Given the description of an element on the screen output the (x, y) to click on. 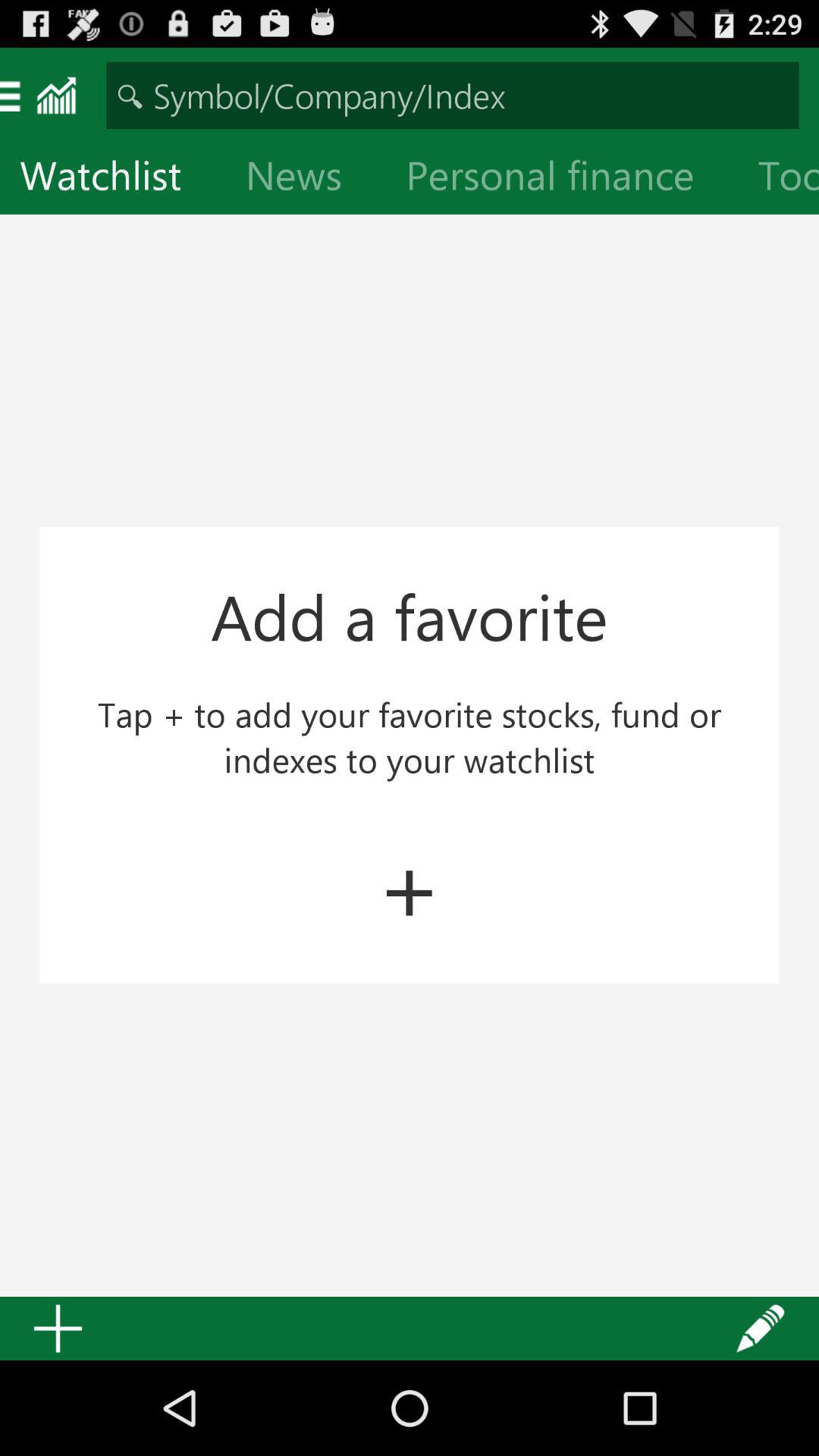
turn on the icon above add a favorite item (305, 178)
